Given the description of an element on the screen output the (x, y) to click on. 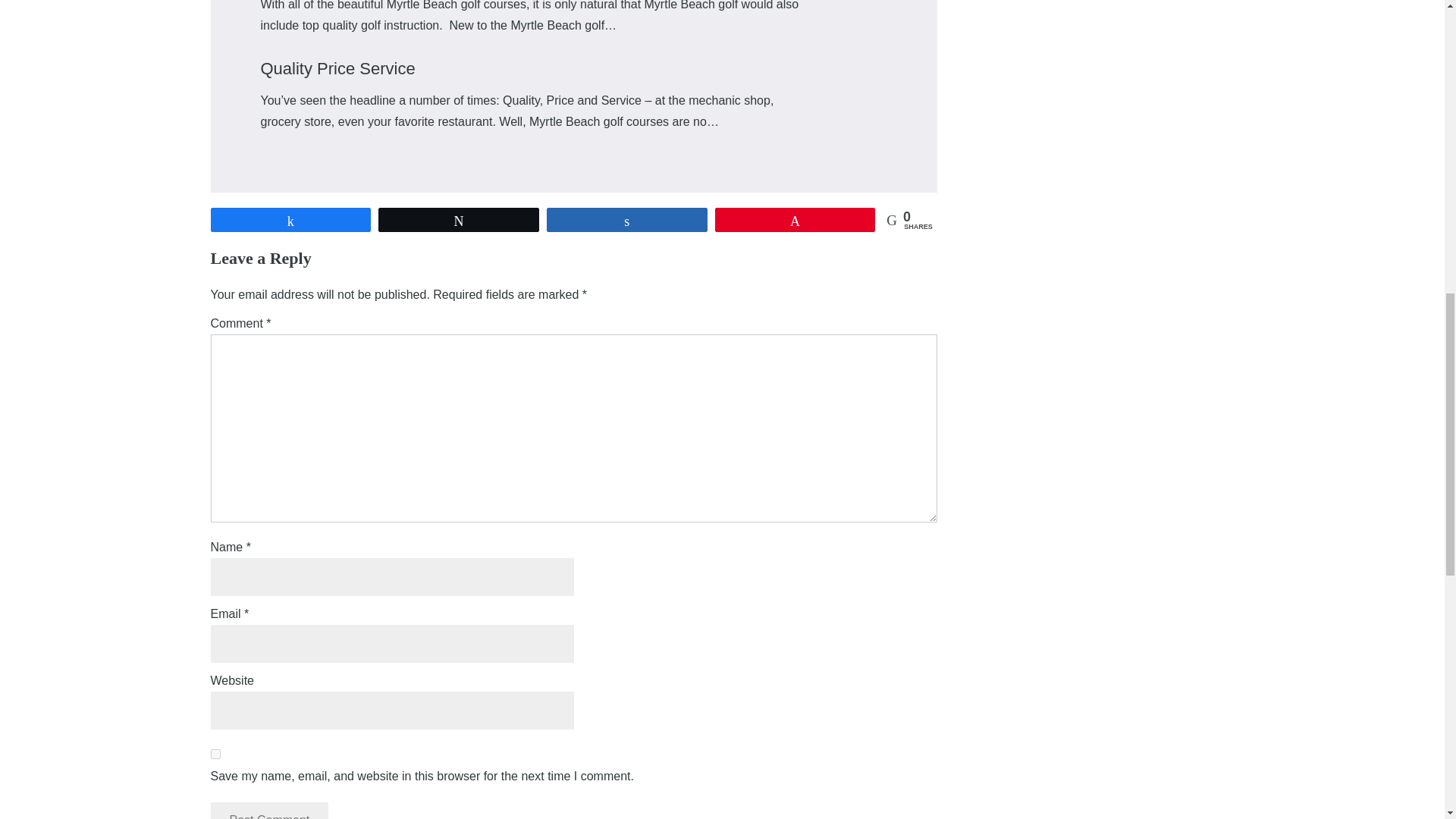
Post Comment (270, 810)
yes (216, 754)
